Given the description of an element on the screen output the (x, y) to click on. 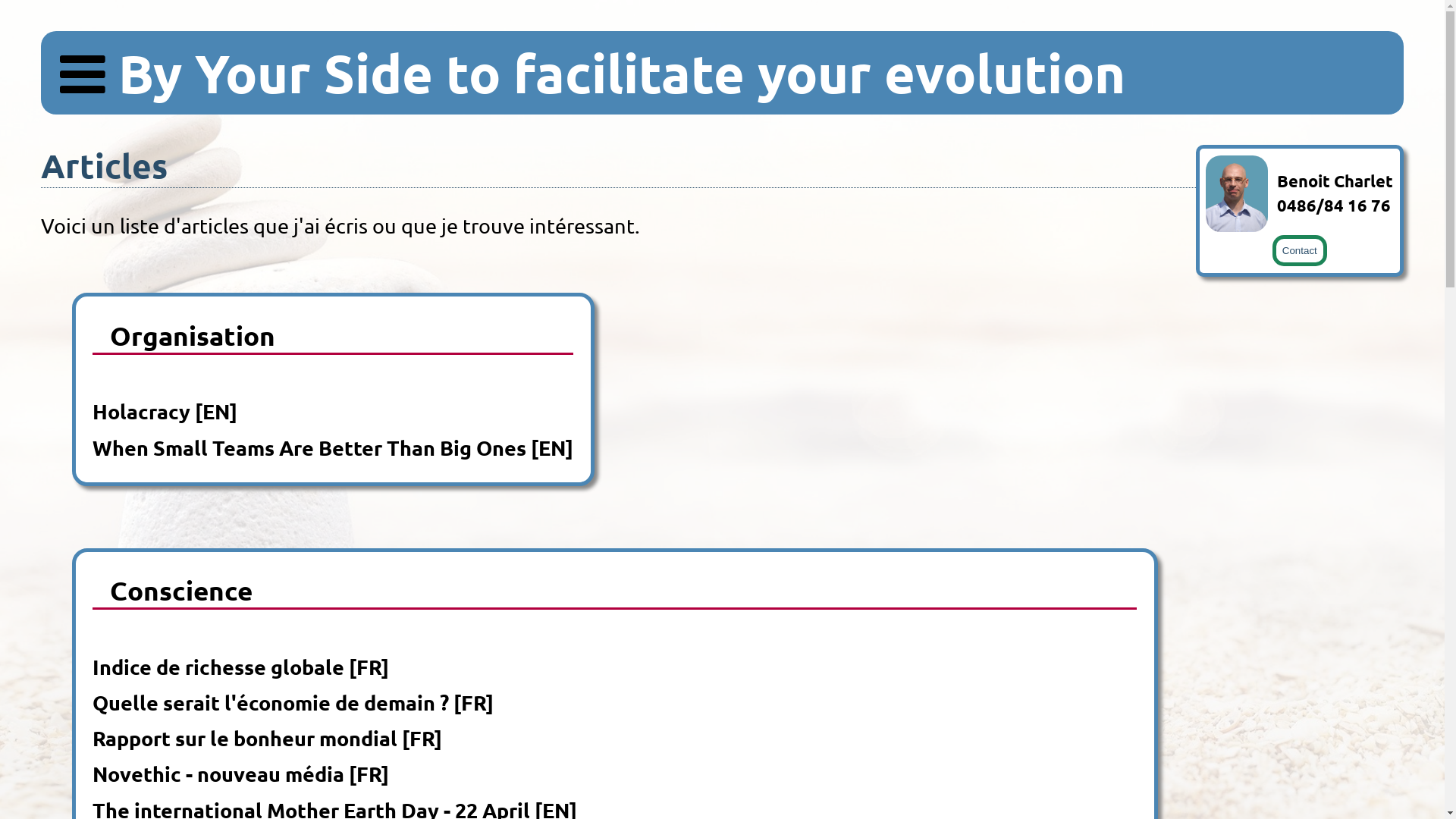
Holacracy [EN] Element type: text (164, 410)
Indice de richesse globale [FR] Element type: text (240, 666)
Contact Element type: text (1299, 250)
Rapport sur le bonheur mondial [FR] Element type: text (267, 737)
When Small Teams Are Better Than Big Ones [EN] Element type: text (332, 446)
Contact Element type: text (1299, 247)
